Given the description of an element on the screen output the (x, y) to click on. 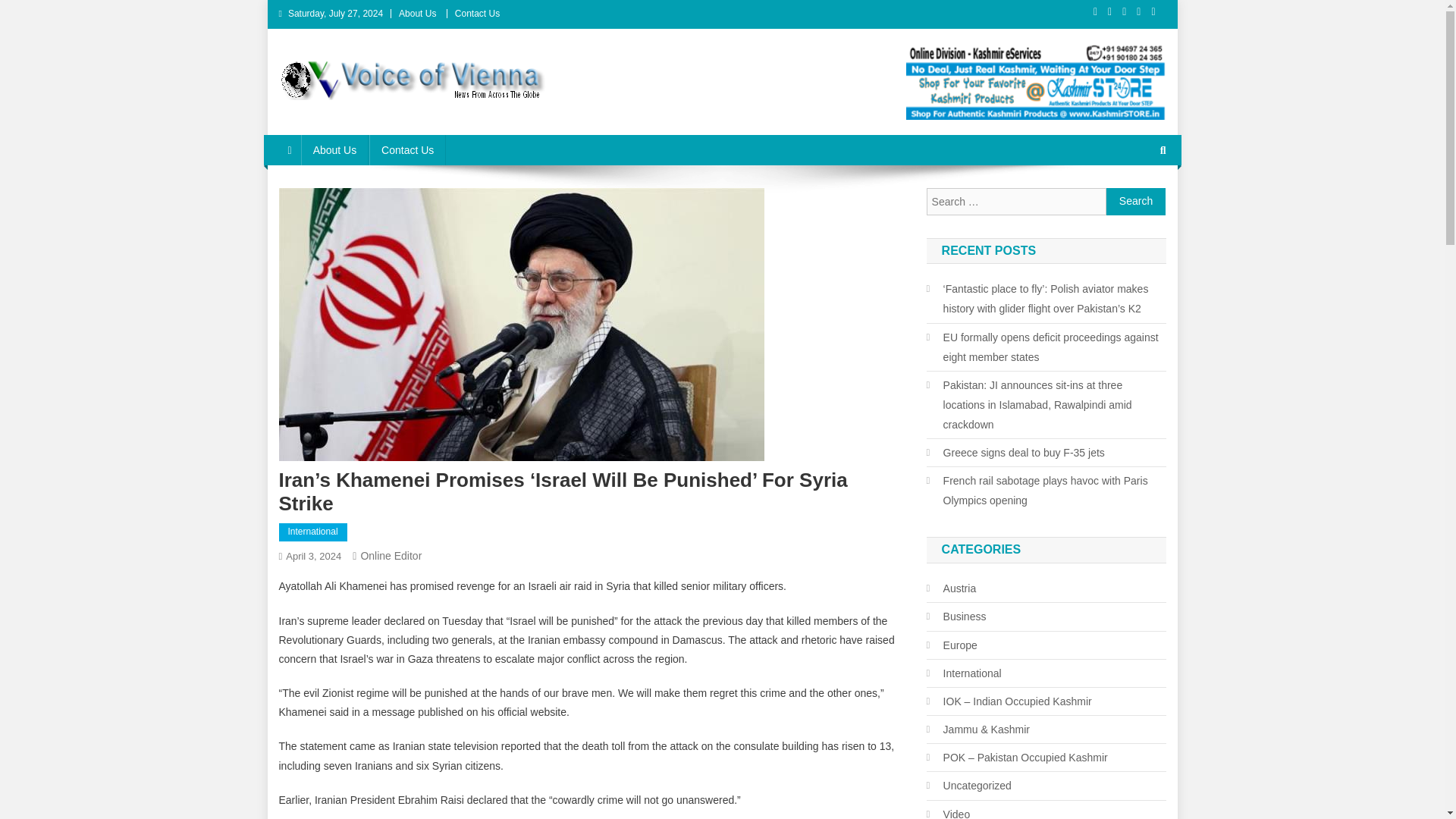
Search (1136, 201)
Online Editor (390, 555)
Voice of Vienna (368, 114)
Contact Us (476, 13)
Contact Us (407, 150)
About Us (416, 13)
Greece signs deal to buy F-35 jets (1015, 452)
About Us (335, 150)
Search (1136, 201)
International (313, 532)
Search (1136, 201)
Search (1133, 200)
April 3, 2024 (312, 555)
